Given the description of an element on the screen output the (x, y) to click on. 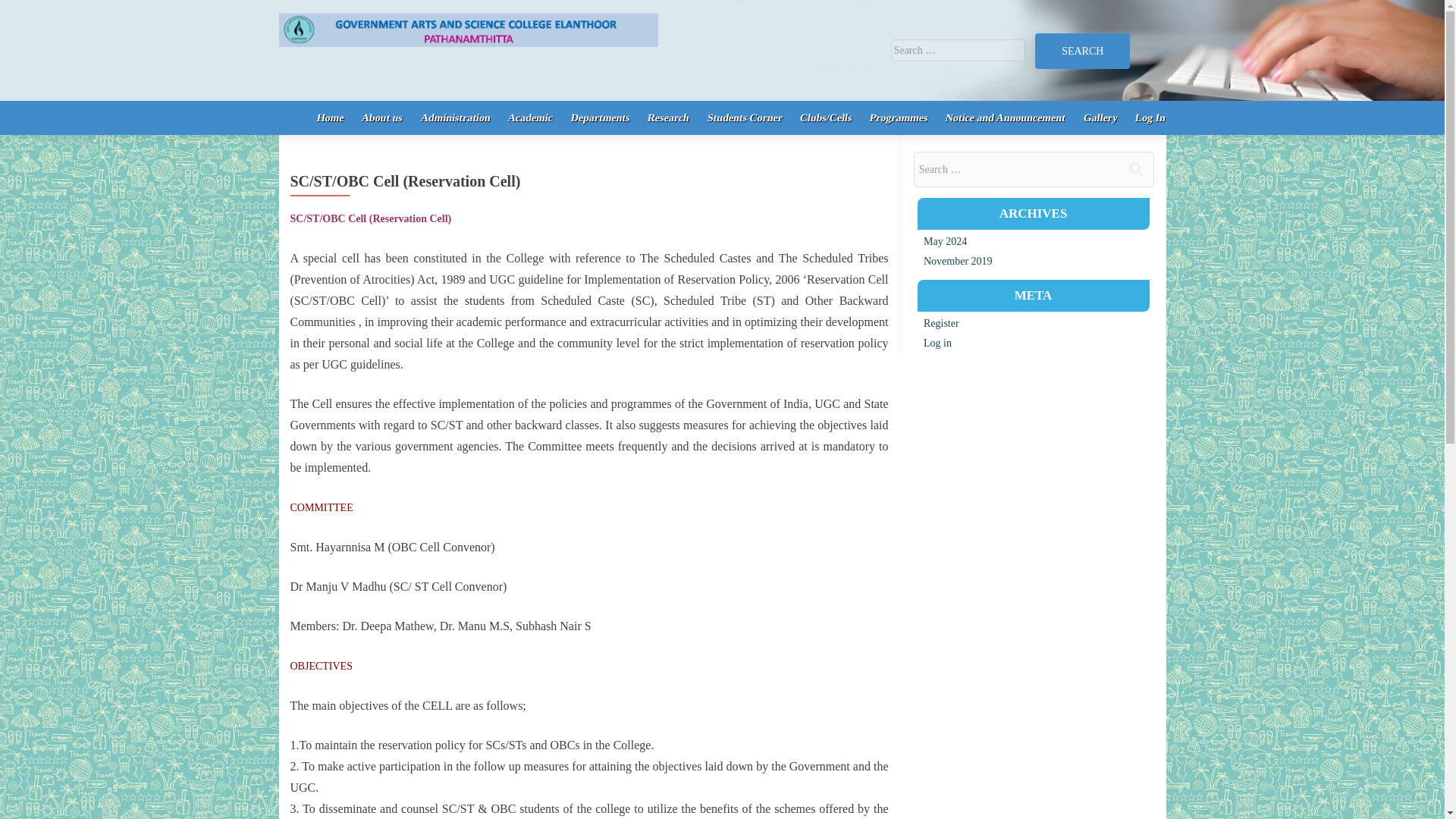
Academic (527, 117)
About us (379, 117)
Home (328, 117)
Search (1082, 50)
Administration (453, 117)
Students Corner (741, 117)
Search (1082, 50)
Skip to content (321, 108)
Search (1082, 50)
Search (1135, 168)
Search (1135, 168)
Departments (598, 117)
Research (666, 117)
